Given the description of an element on the screen output the (x, y) to click on. 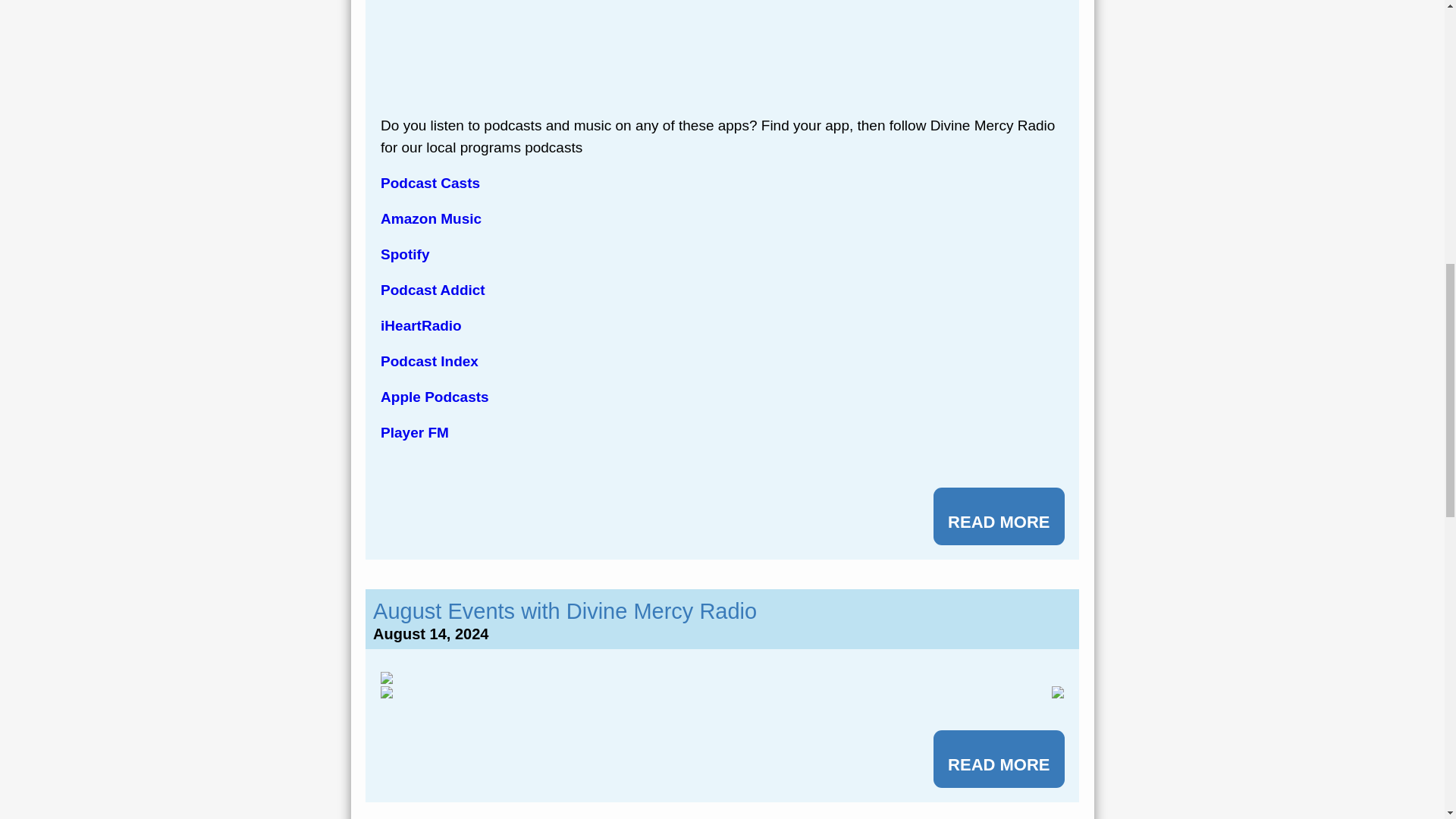
iHeartRadio (420, 325)
Podcast Casts (430, 182)
Amazon Music (430, 218)
Podcast Addict (432, 289)
Spotify (404, 254)
